Given the description of an element on the screen output the (x, y) to click on. 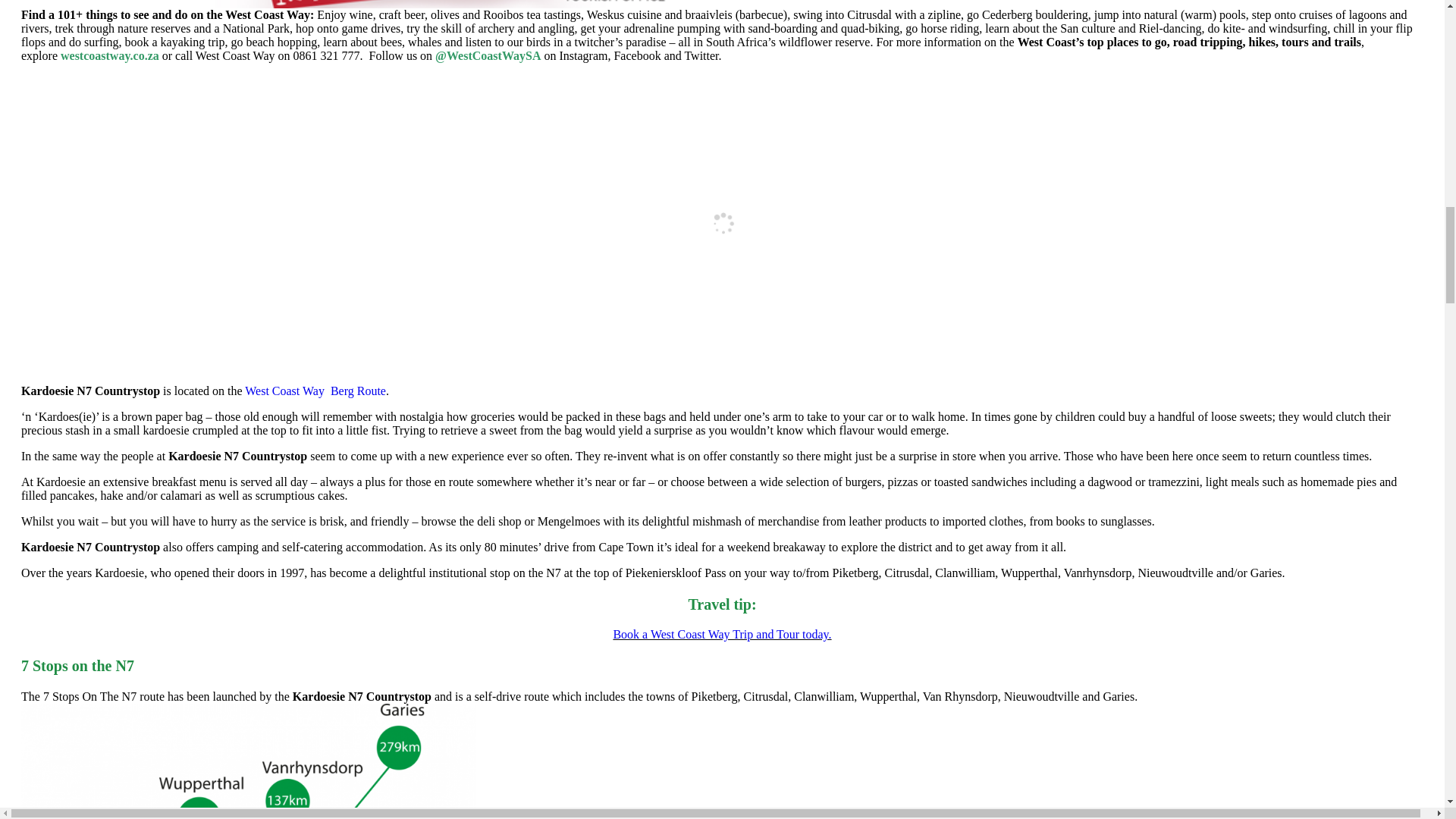
West Coast Way Routes (722, 10)
